Given the description of an element on the screen output the (x, y) to click on. 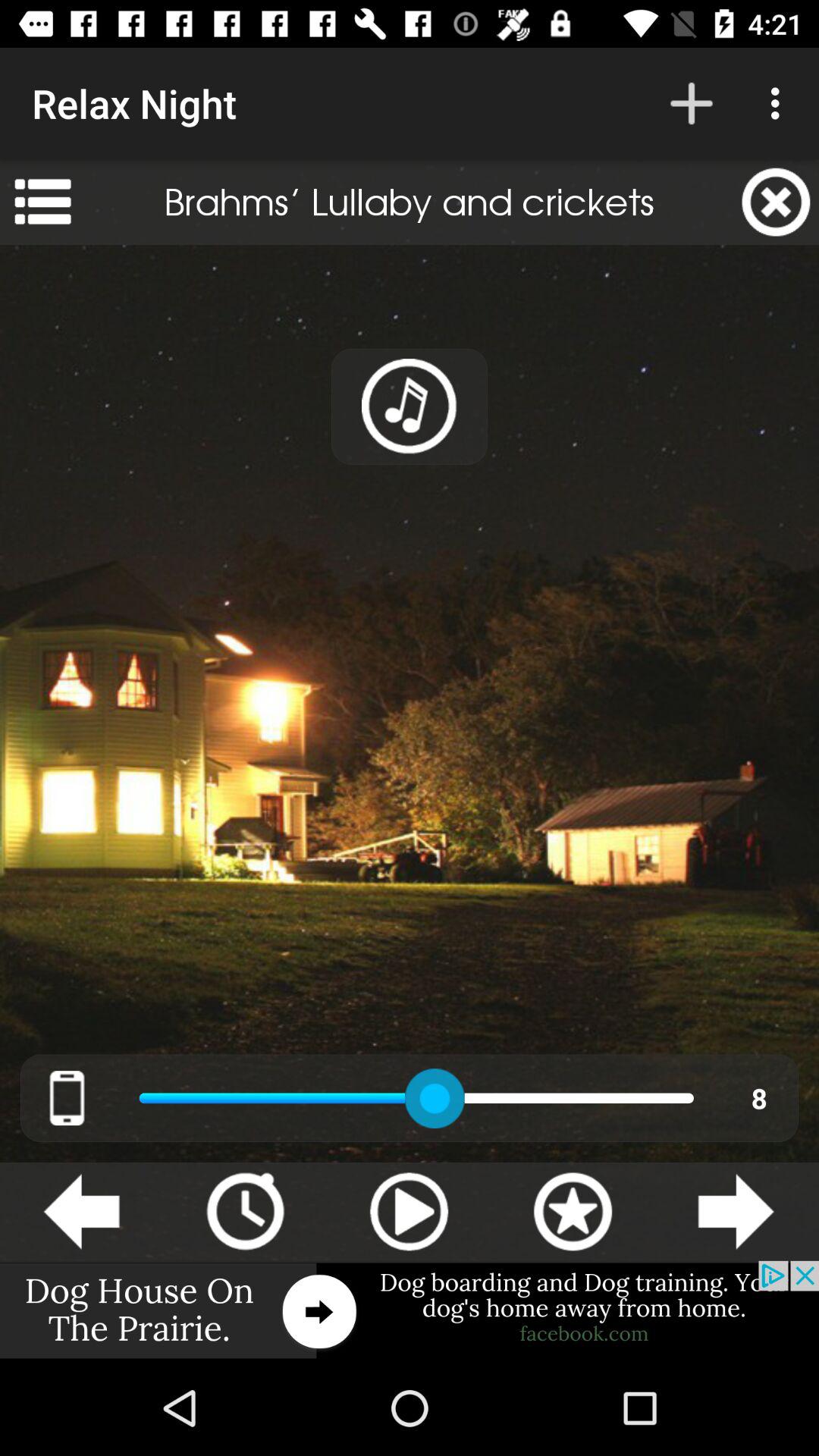
press the app to the right of the relax night (691, 103)
